Given the description of an element on the screen output the (x, y) to click on. 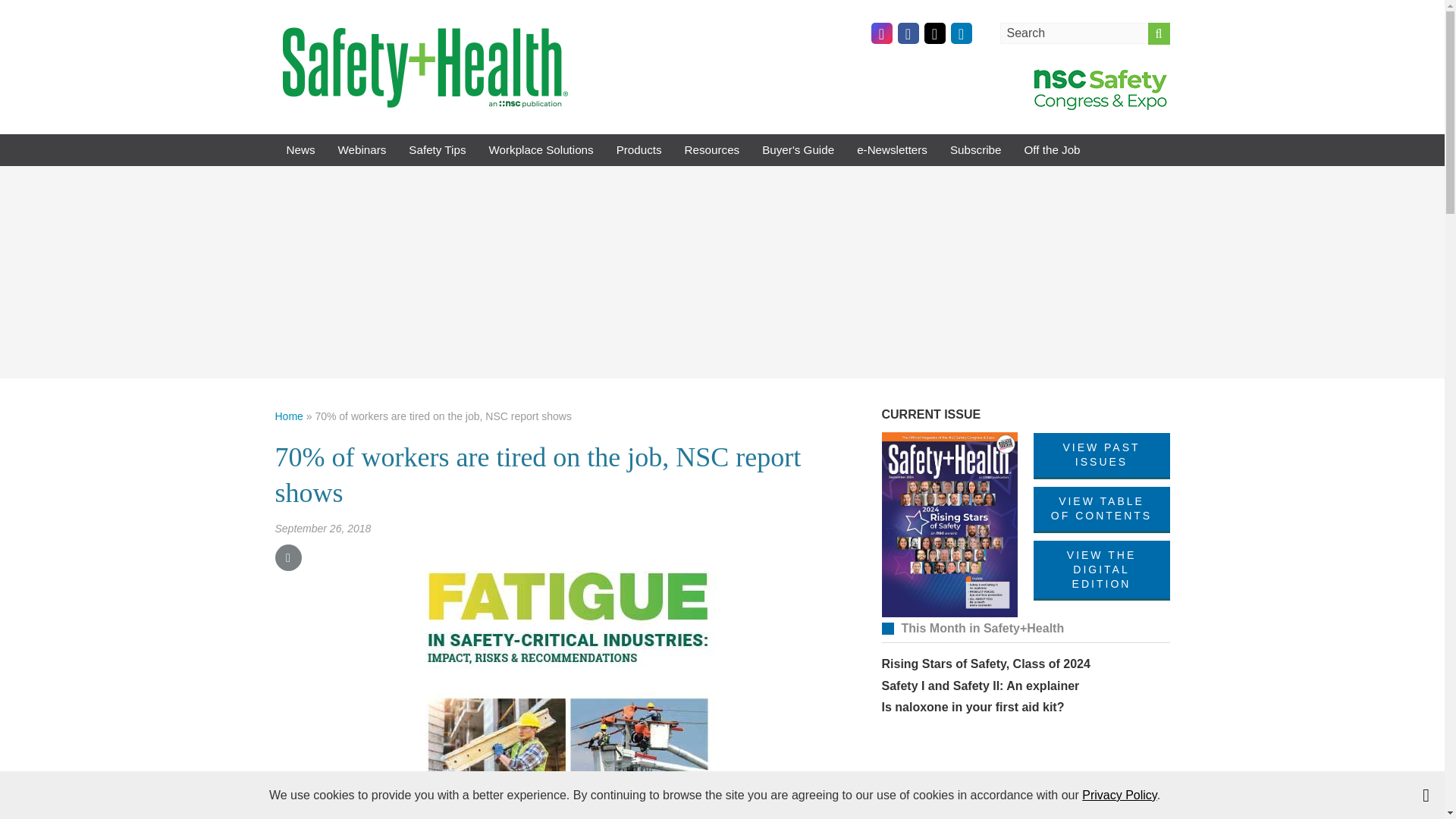
Safety Tips (437, 150)
News (300, 150)
Privacy Policy (1118, 794)
Webinars (361, 150)
